Given the description of an element on the screen output the (x, y) to click on. 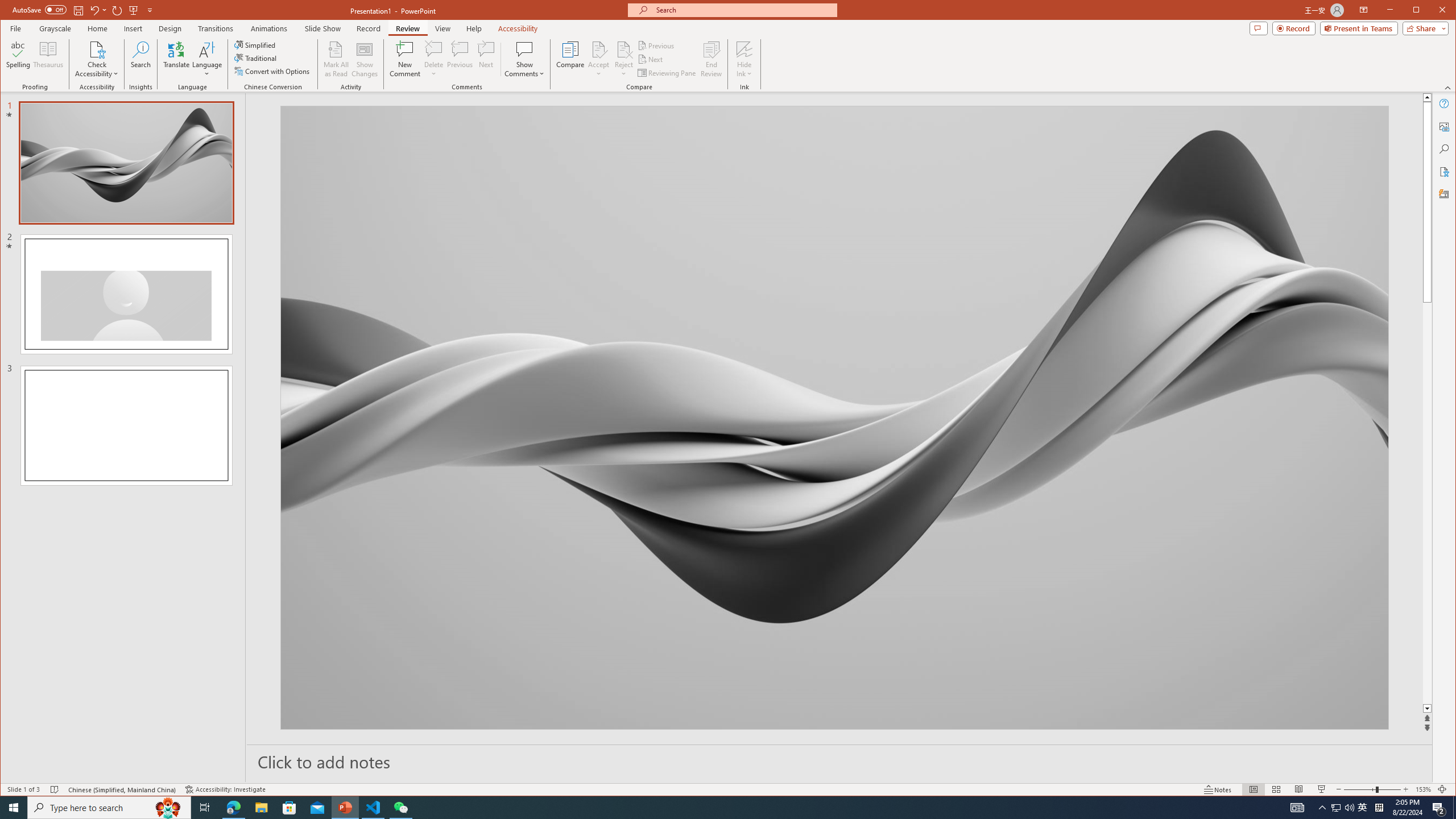
Simplified (255, 44)
Reject (623, 59)
Reject Change (623, 48)
